Given the description of an element on the screen output the (x, y) to click on. 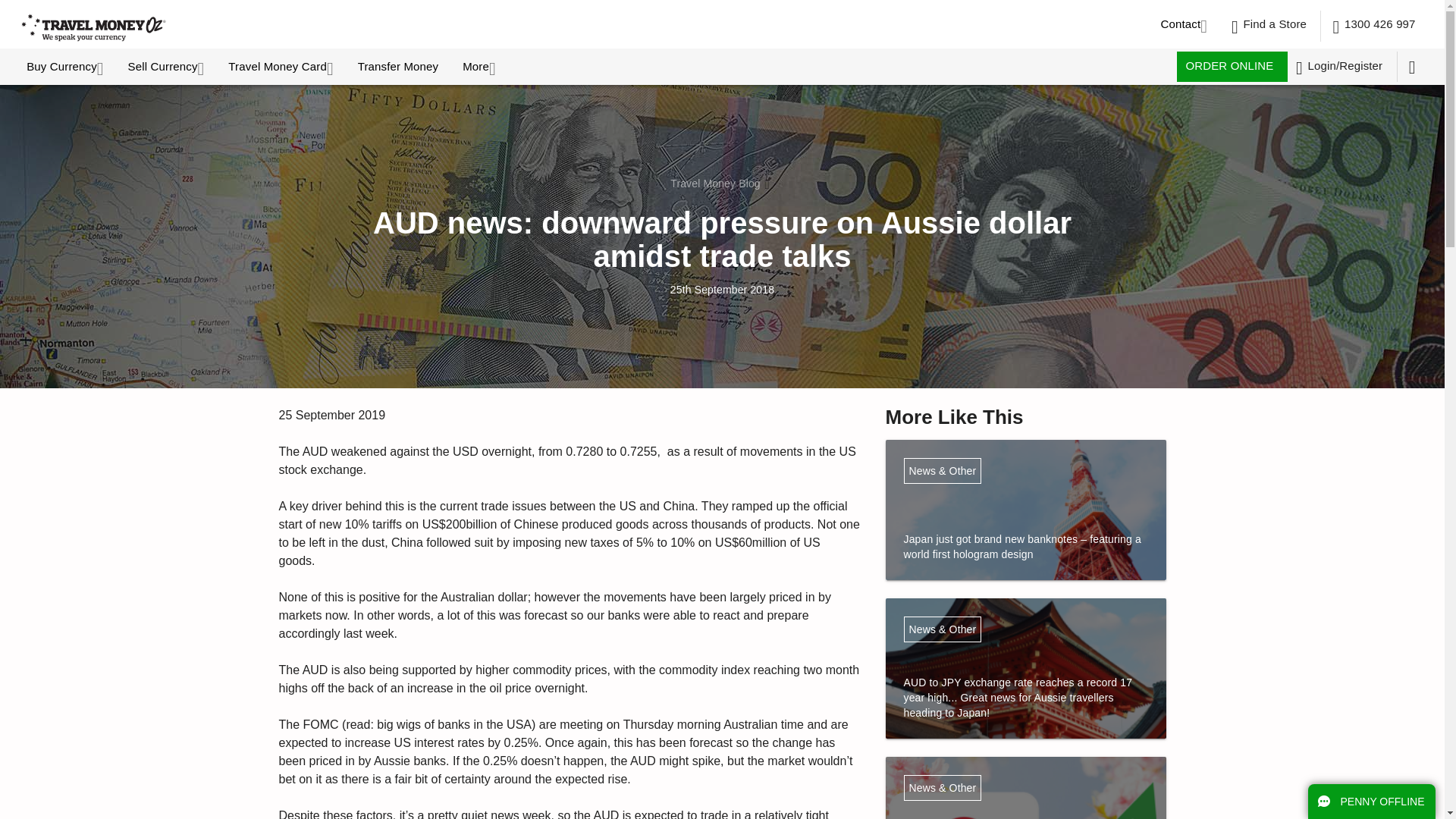
Buy Currency (68, 66)
Sell Currency (169, 66)
1300 426 997 (1374, 25)
TMOZ-Logo-header (123, 26)
Travel Money Card (284, 66)
AUD to JPY exchange rate has hit a 34-year record! (1025, 690)
Find a Store (1270, 25)
TMOZ-Logo-header (93, 27)
Japan's brand new banknotes - everything you need to know (1025, 531)
